Given the description of an element on the screen output the (x, y) to click on. 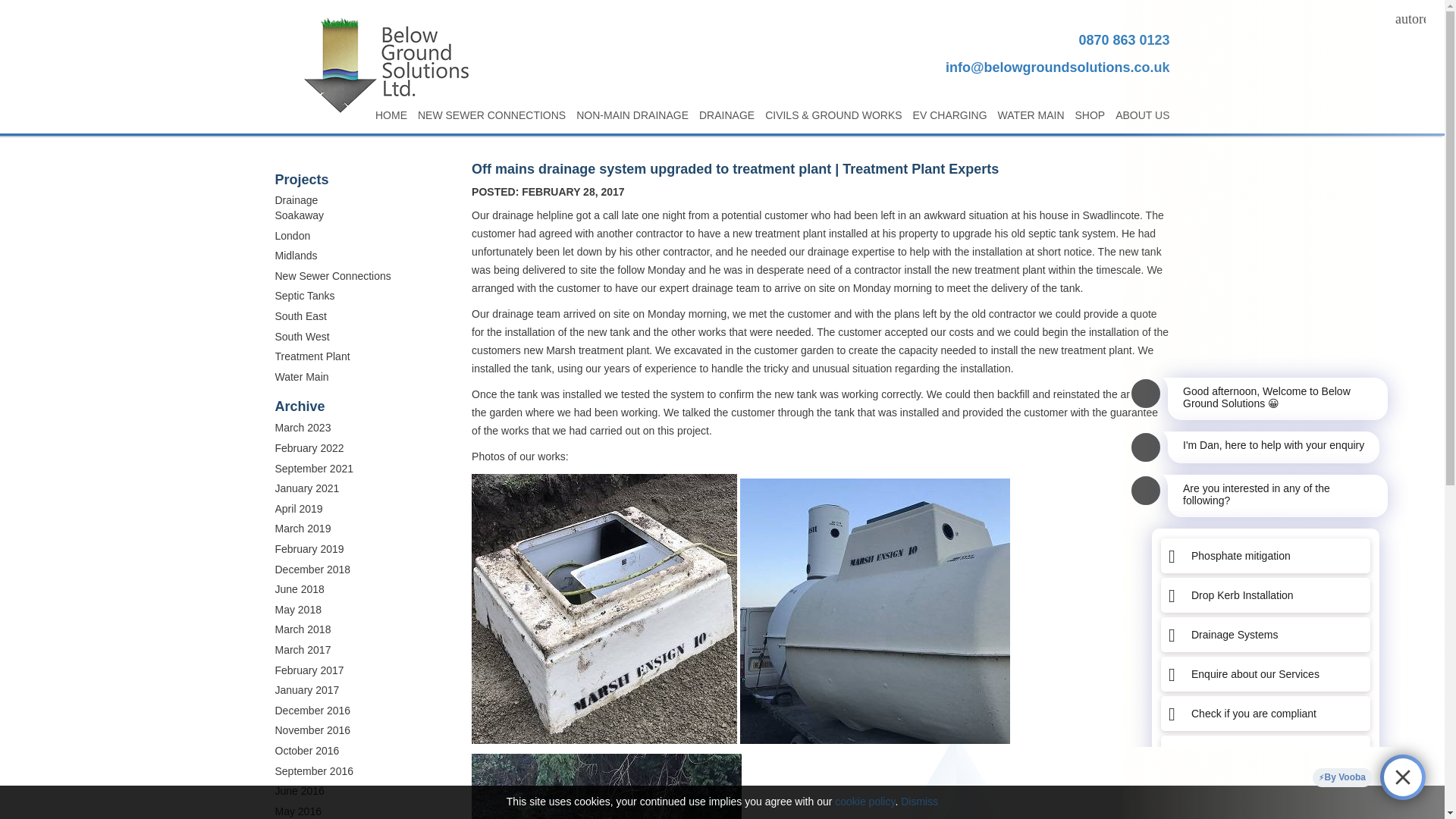
SHOP (1090, 114)
NEW SEWER CONNECTIONS (491, 114)
HOME (391, 114)
ABOUT US (1142, 114)
EV CHARGING (949, 114)
WATER MAIN (1030, 114)
DRAINAGE (726, 114)
NON-MAIN DRAINAGE (632, 114)
